Given the description of an element on the screen output the (x, y) to click on. 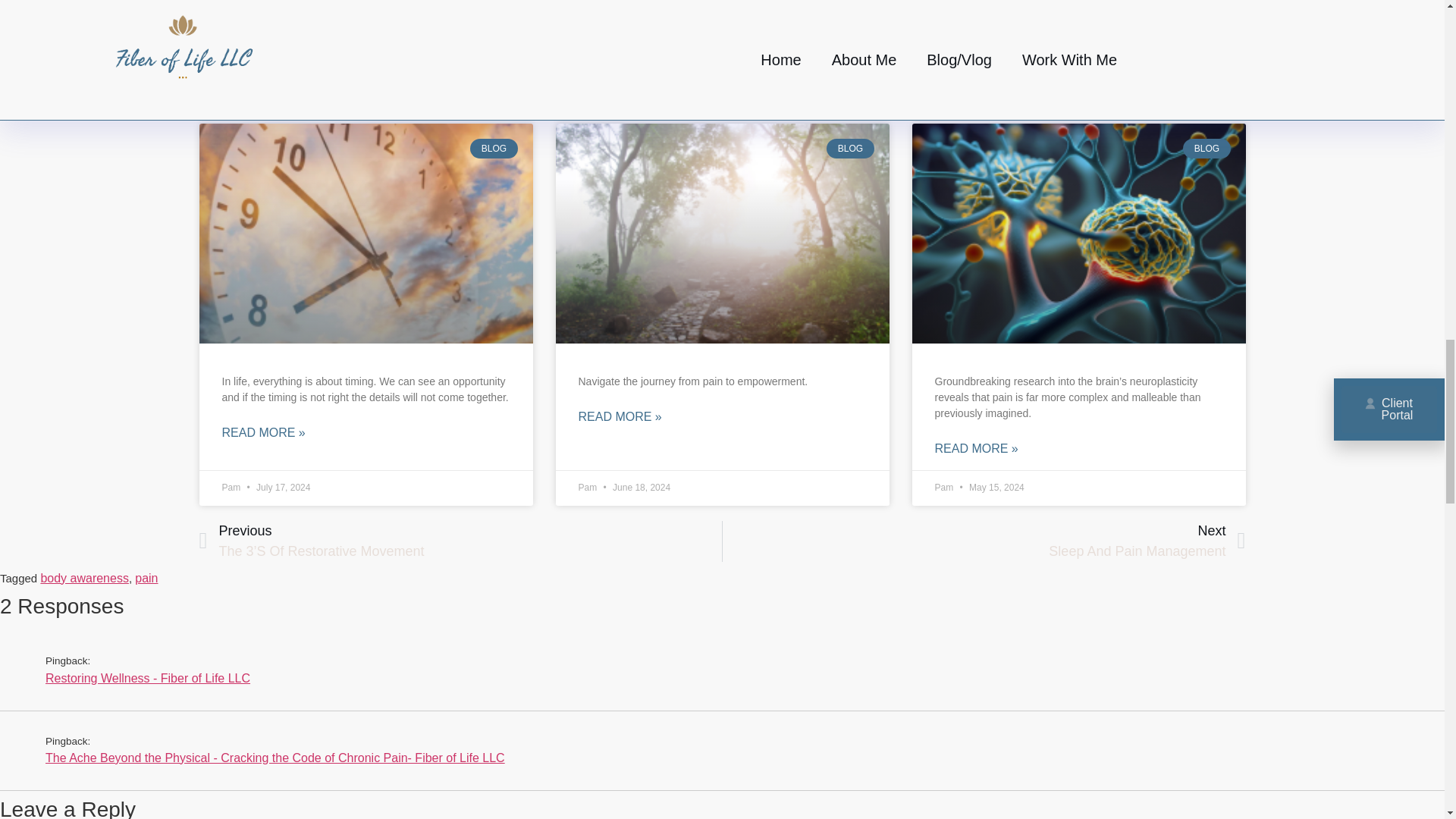
body awareness (84, 577)
pain (146, 577)
